Given the description of an element on the screen output the (x, y) to click on. 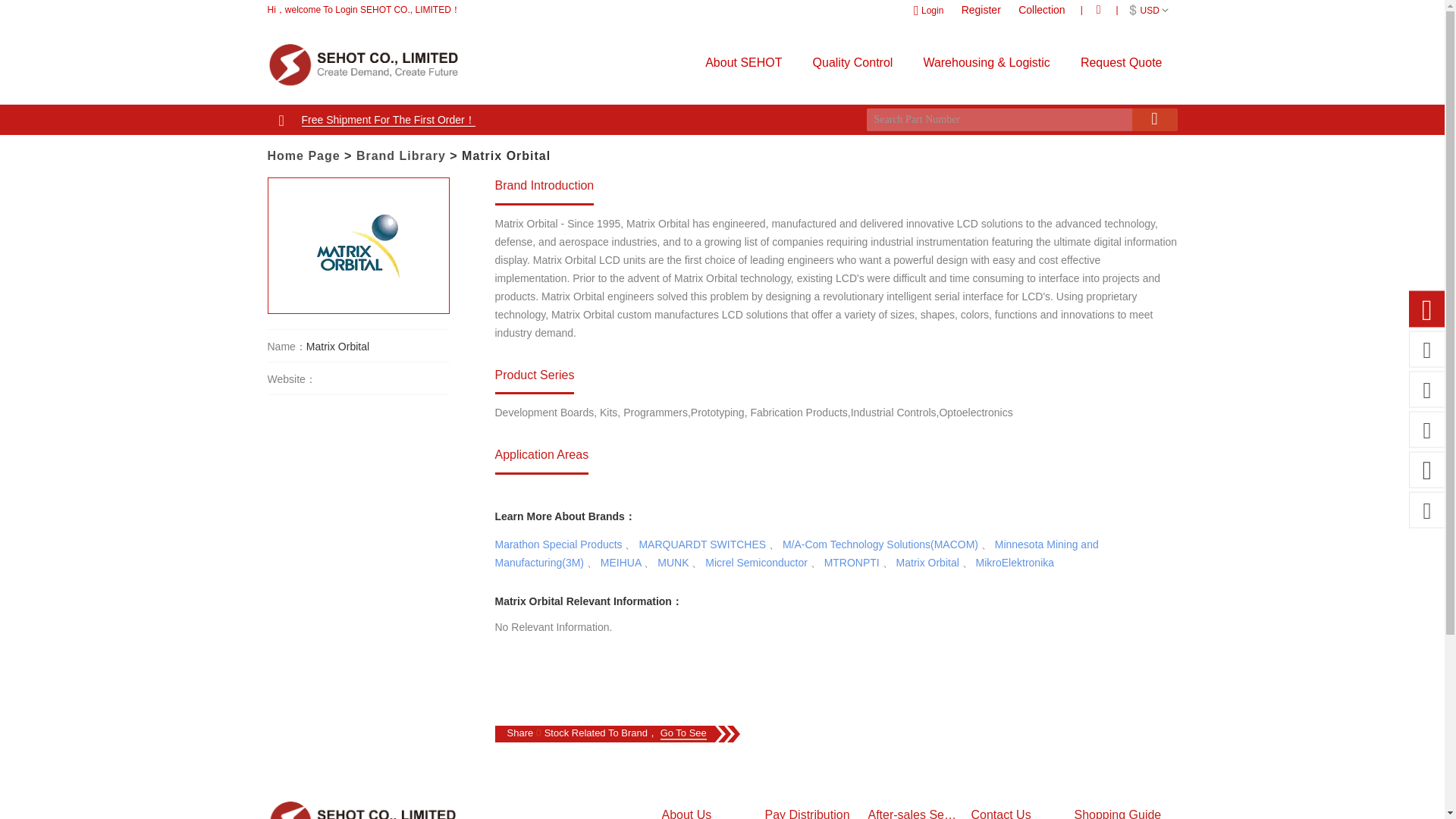
Marathon Special Products (558, 544)
Go To See (683, 733)
Collection (1044, 9)
Micrel Semiconductor (756, 562)
MTRONPTI (851, 562)
Home Page (302, 155)
Matrix Orbital (927, 562)
MARQUARDT SWITCHES (702, 544)
USD (1149, 9)
Login (929, 9)
Brand Library (400, 155)
About SEHOT (742, 62)
MEIHUA (620, 562)
MikroElektronika (1014, 562)
MUNK (673, 562)
